Given the description of an element on the screen output the (x, y) to click on. 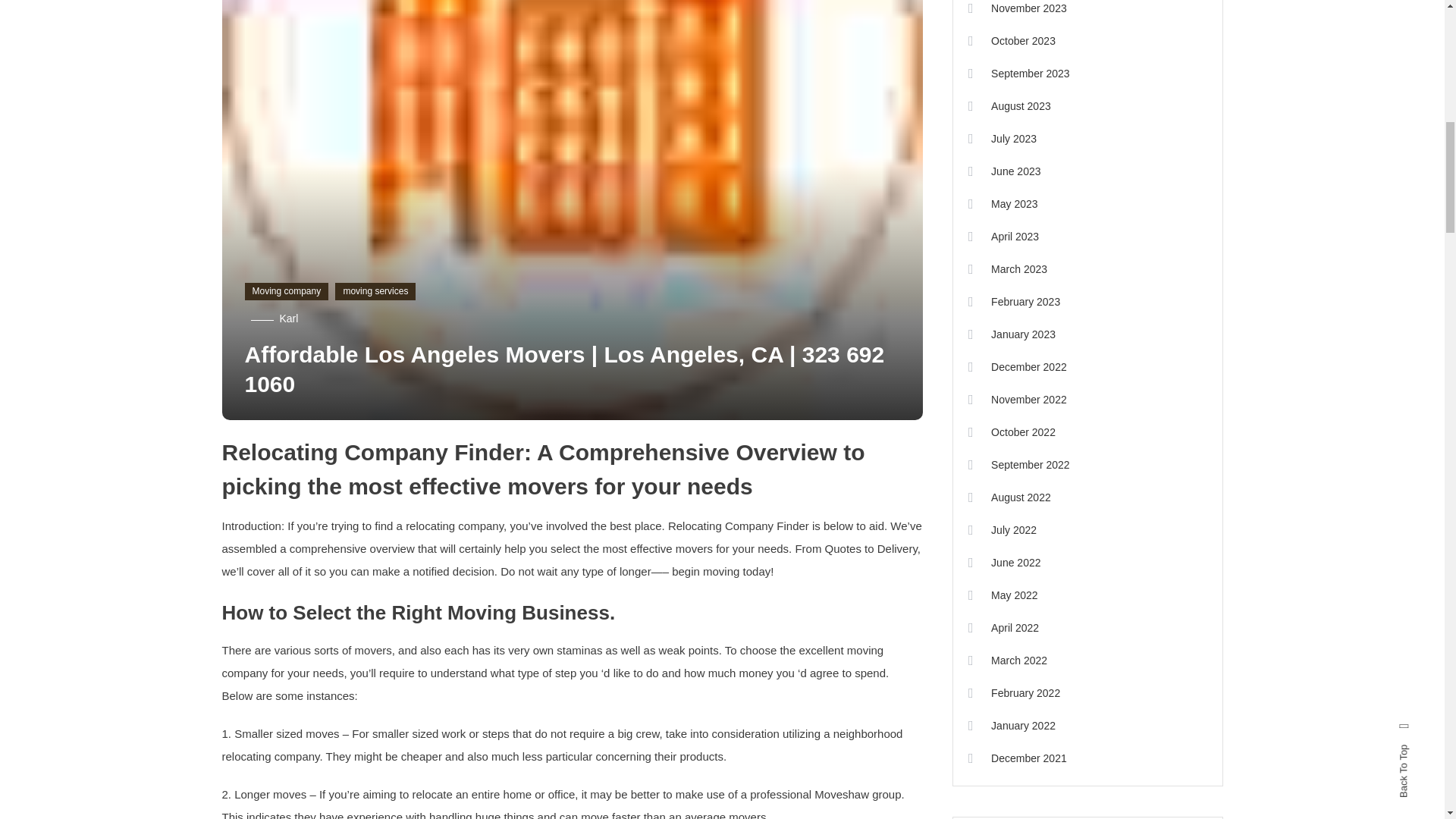
moving services (374, 291)
Moving company (286, 291)
